Given the description of an element on the screen output the (x, y) to click on. 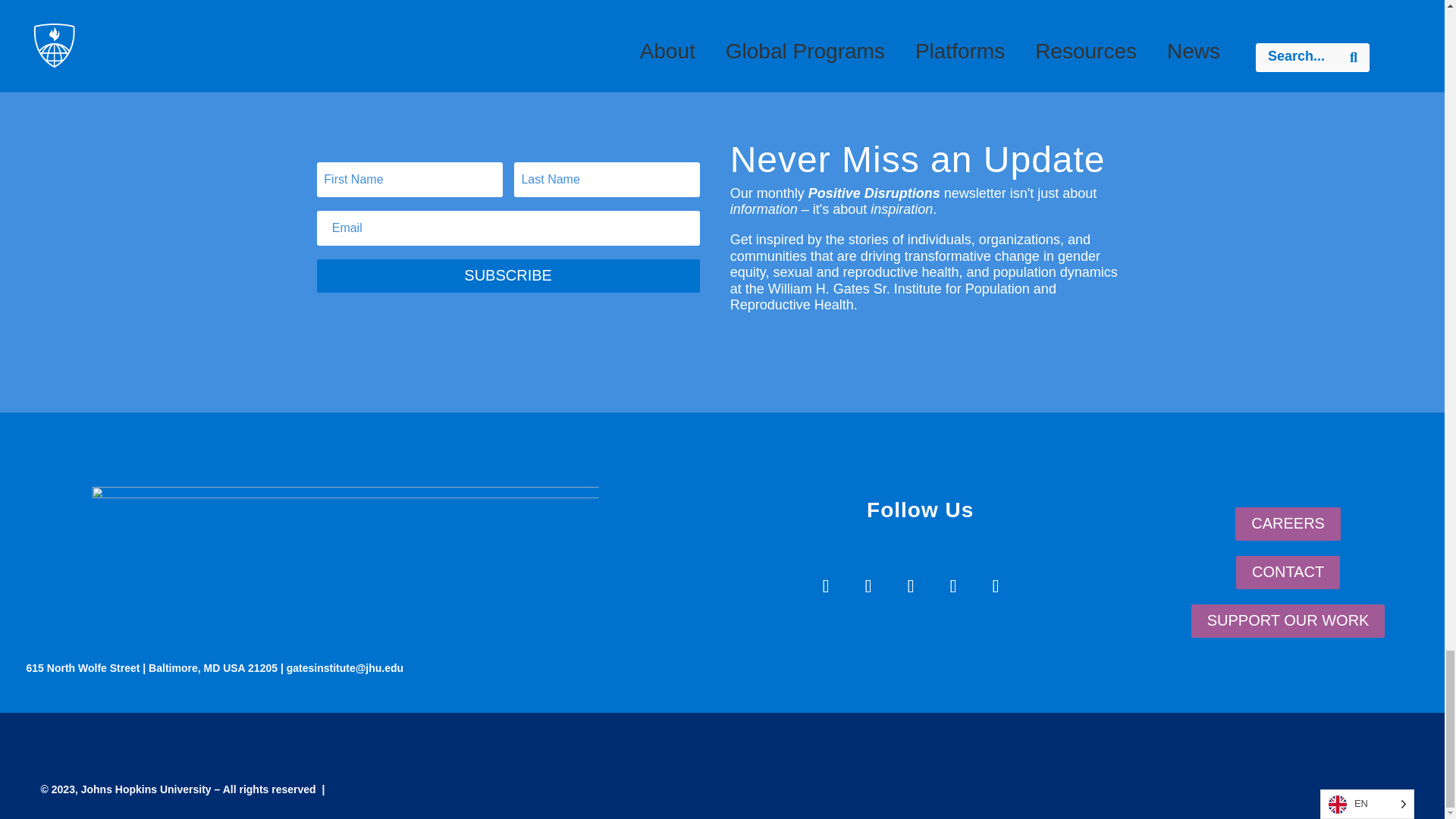
Follow on Youtube (952, 586)
Follow on Instagram (910, 586)
gates-sr-pfrh-dpt-horizontal-white (429, 556)
Follow on Facebook (826, 586)
Follow on RSS (994, 586)
Follow on X (868, 586)
